Given the description of an element on the screen output the (x, y) to click on. 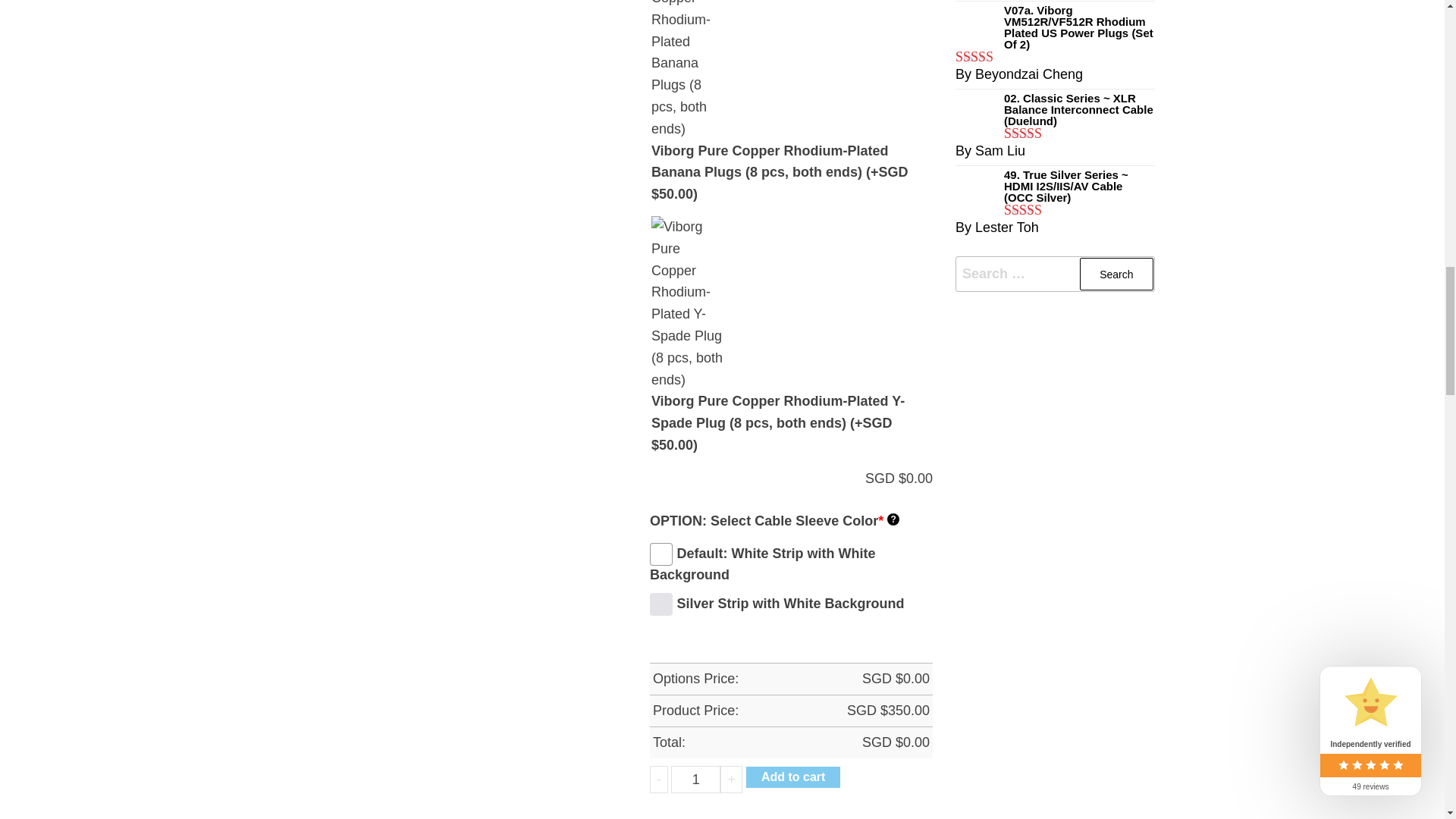
1 (695, 779)
Search (1116, 273)
Search (1116, 273)
